Given the description of an element on the screen output the (x, y) to click on. 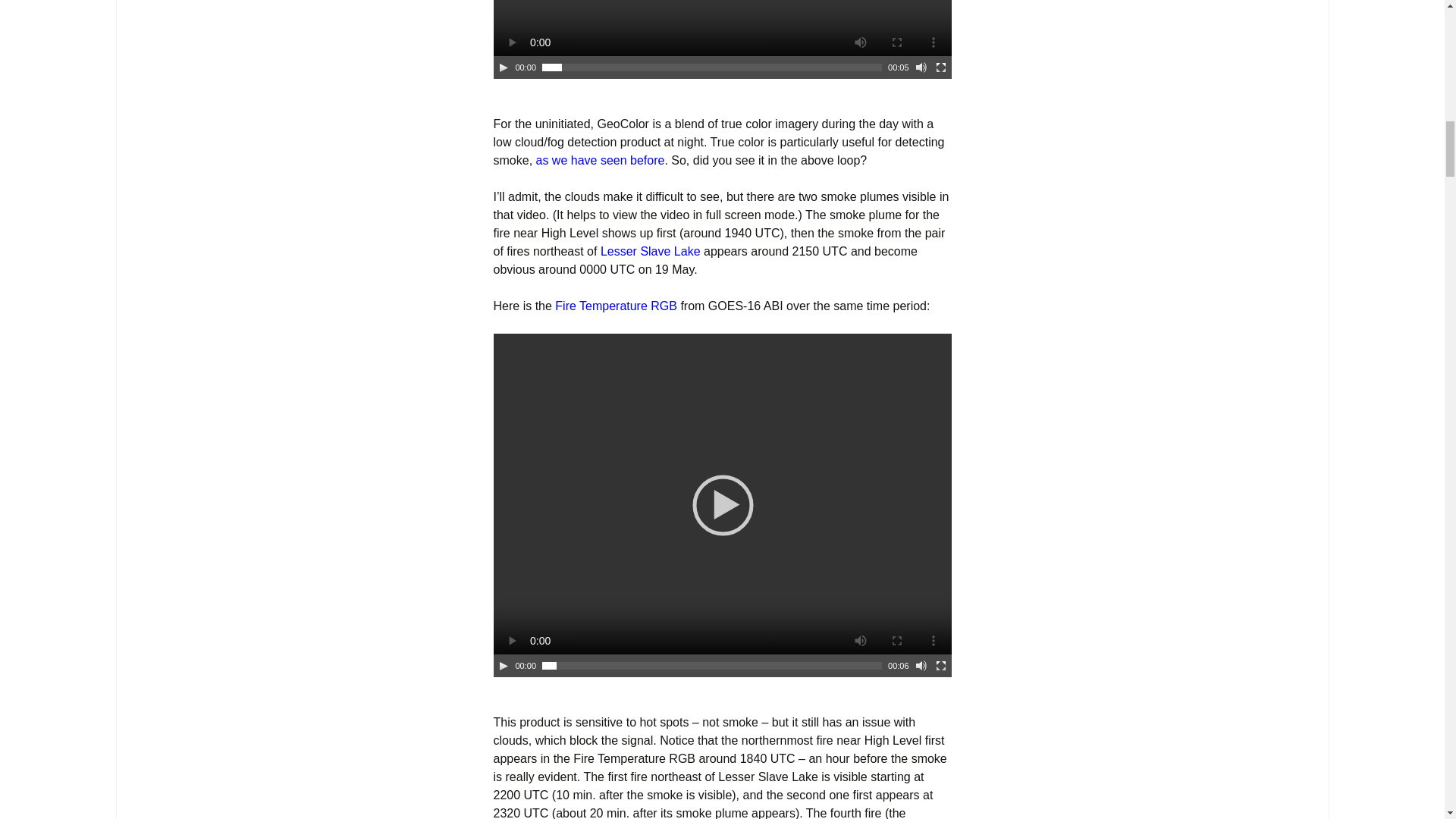
Lesser Slave Lake (649, 250)
Fire Temperature RGB (615, 305)
Mute (921, 665)
Play (503, 67)
Mute (921, 67)
Fullscreen (940, 665)
Fullscreen (940, 67)
as we have seen before (600, 160)
Play (503, 665)
